Given the description of an element on the screen output the (x, y) to click on. 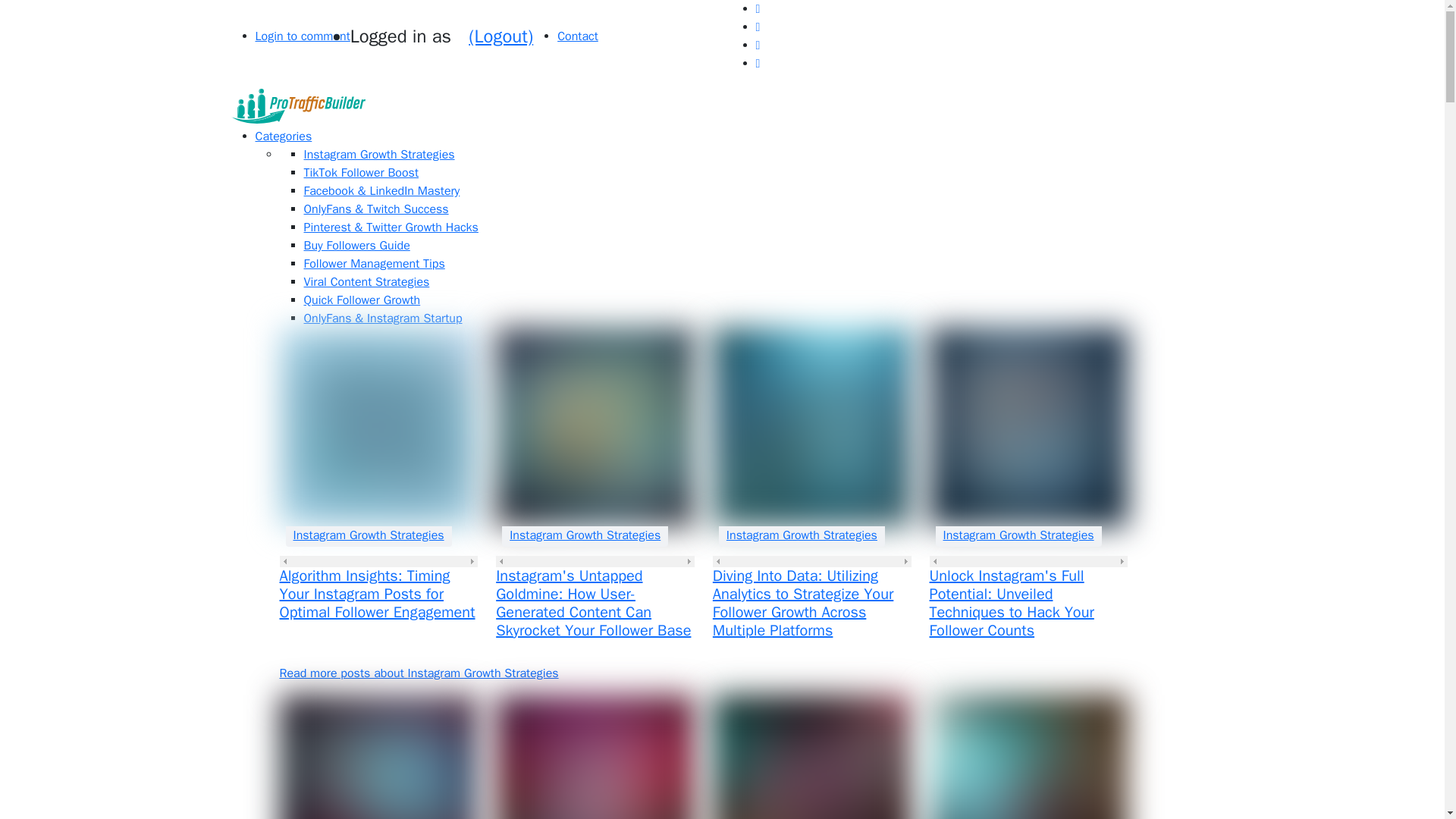
Viral Content Strategies (365, 281)
Instagram Growth Strategies (585, 535)
Instagram Growth Strategies (802, 535)
Quick Follower Growth (361, 299)
Login to comment (301, 36)
Instagram Growth Strategies (378, 154)
Buy Followers Guide (355, 245)
Follower Management Tips (373, 263)
Read more posts about Instagram Growth Strategies (418, 672)
